Given the description of an element on the screen output the (x, y) to click on. 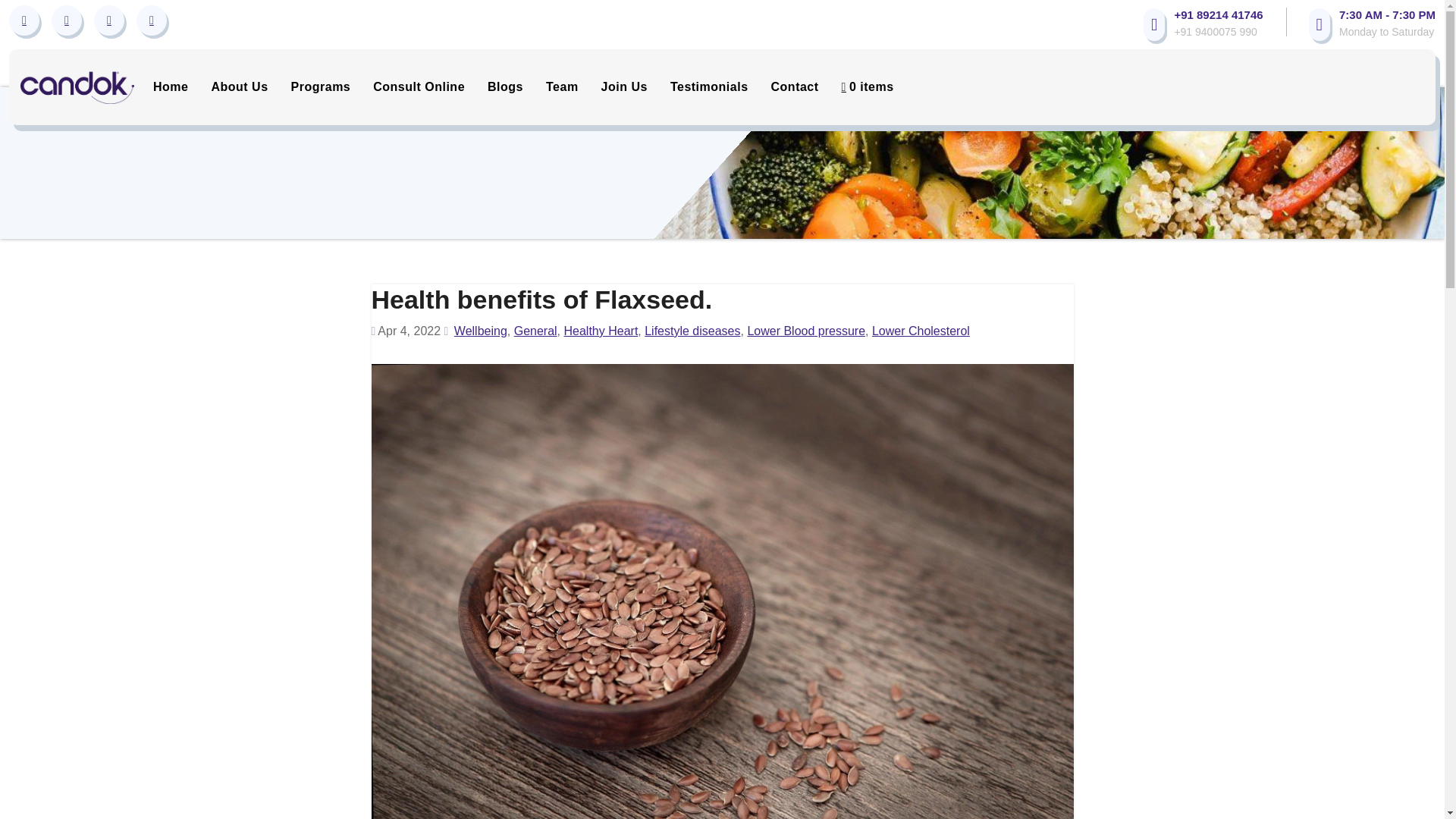
Testimonials (709, 86)
About Us (239, 86)
Join Us (624, 86)
Healthy Heart (601, 330)
Lower Blood pressure (805, 330)
Blogs (505, 86)
Programs (320, 86)
General (535, 330)
Team (561, 86)
Blogs (505, 86)
